Given the description of an element on the screen output the (x, y) to click on. 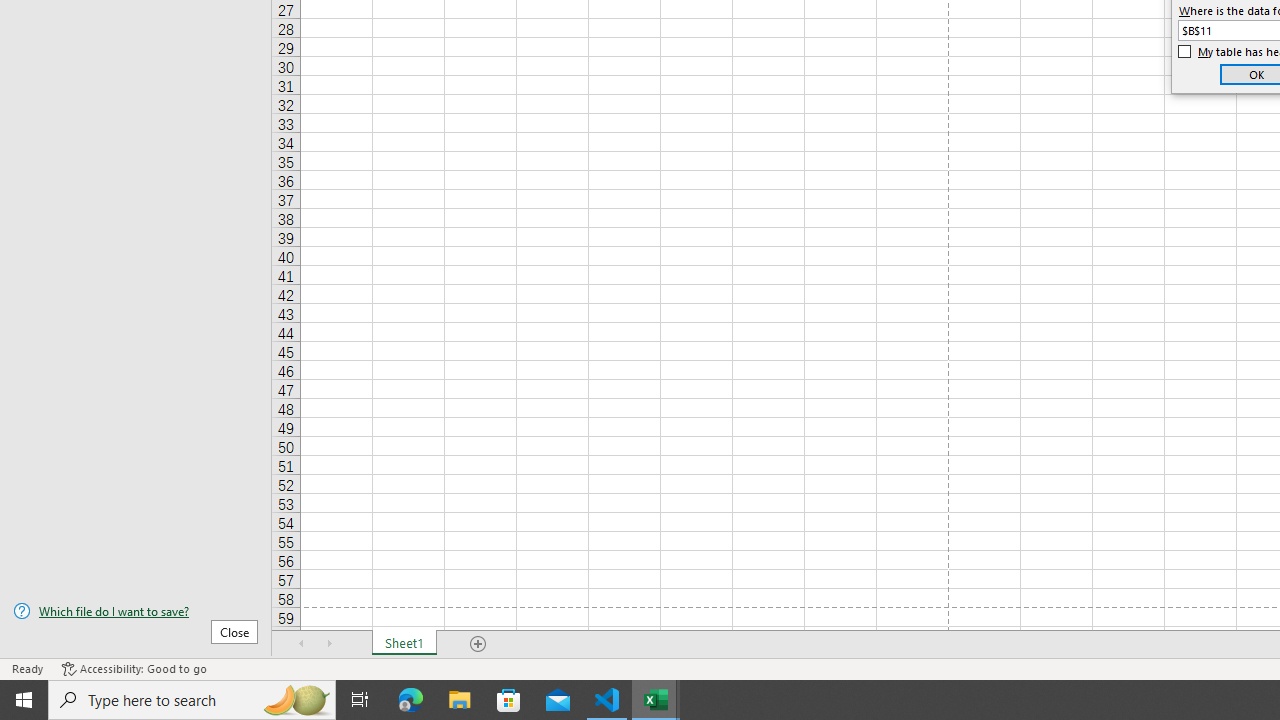
Which file do I want to save? (136, 611)
Scroll Right (330, 644)
Close (234, 631)
Scroll Left (302, 644)
Accessibility Checker Accessibility: Good to go (134, 668)
Add Sheet (478, 644)
Sheet1 (404, 644)
